Given the description of an element on the screen output the (x, y) to click on. 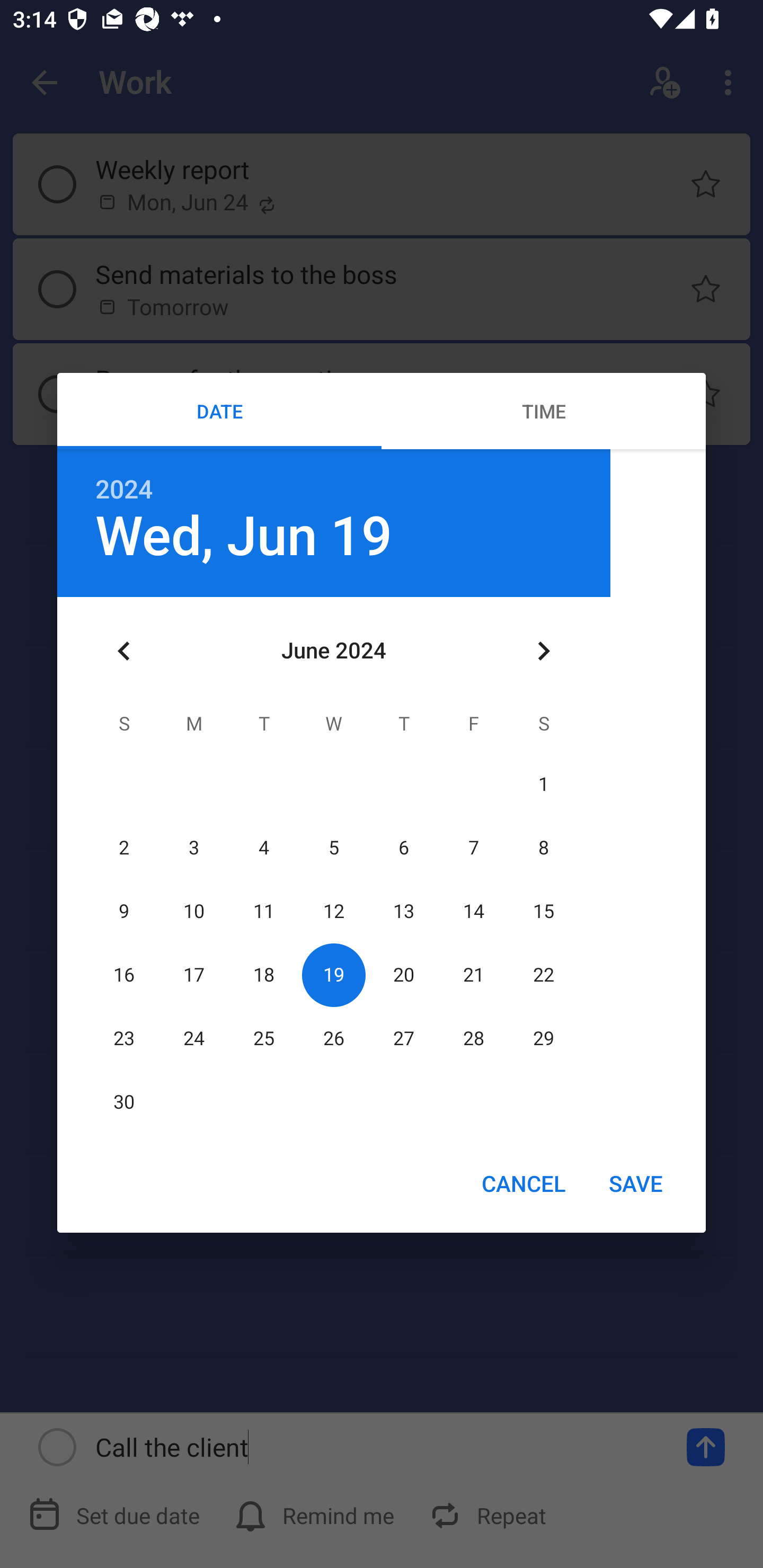
Time TIME (543, 410)
